Given the description of an element on the screen output the (x, y) to click on. 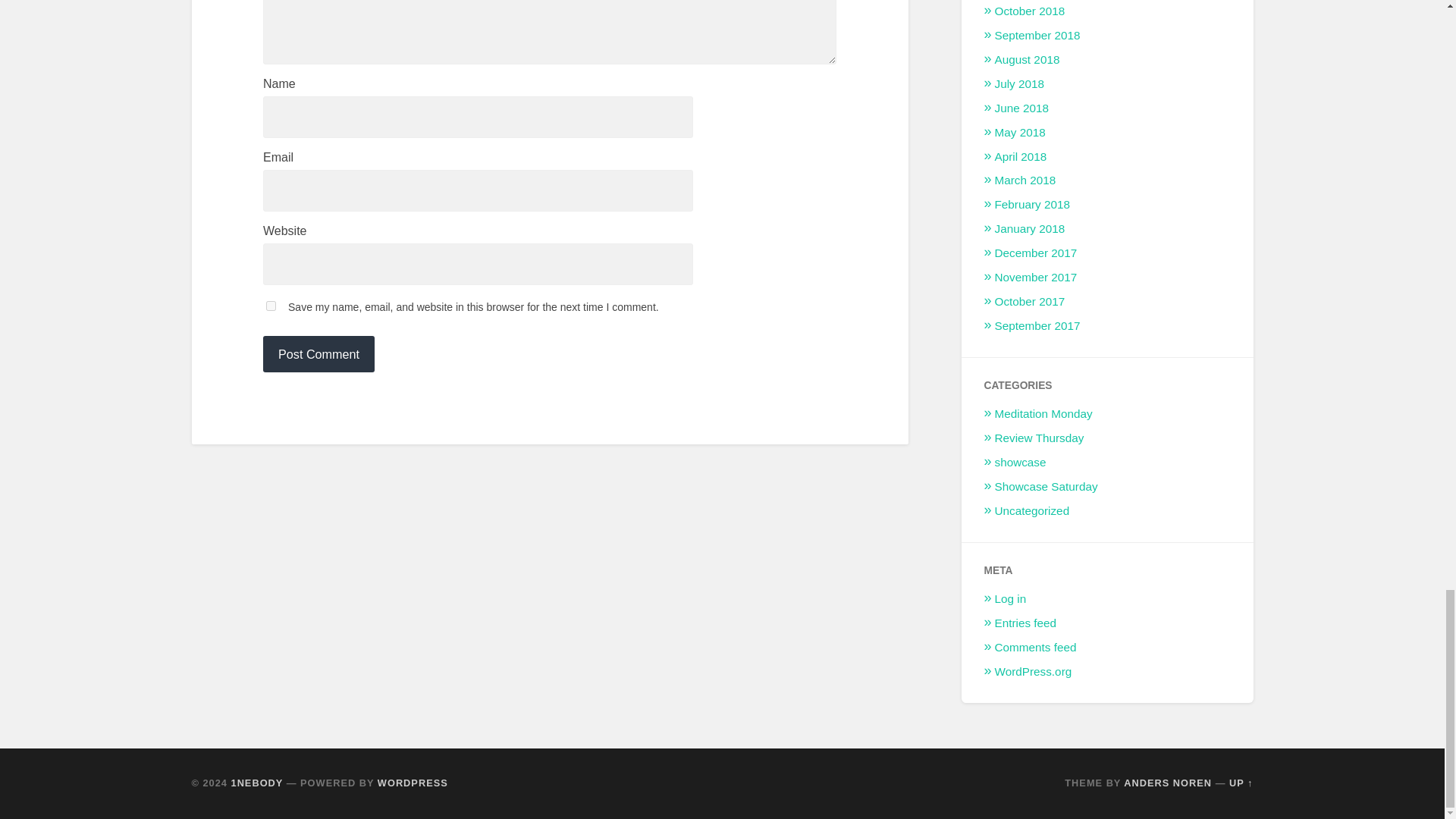
Post Comment (318, 353)
yes (271, 306)
Post Comment (318, 353)
